Given the description of an element on the screen output the (x, y) to click on. 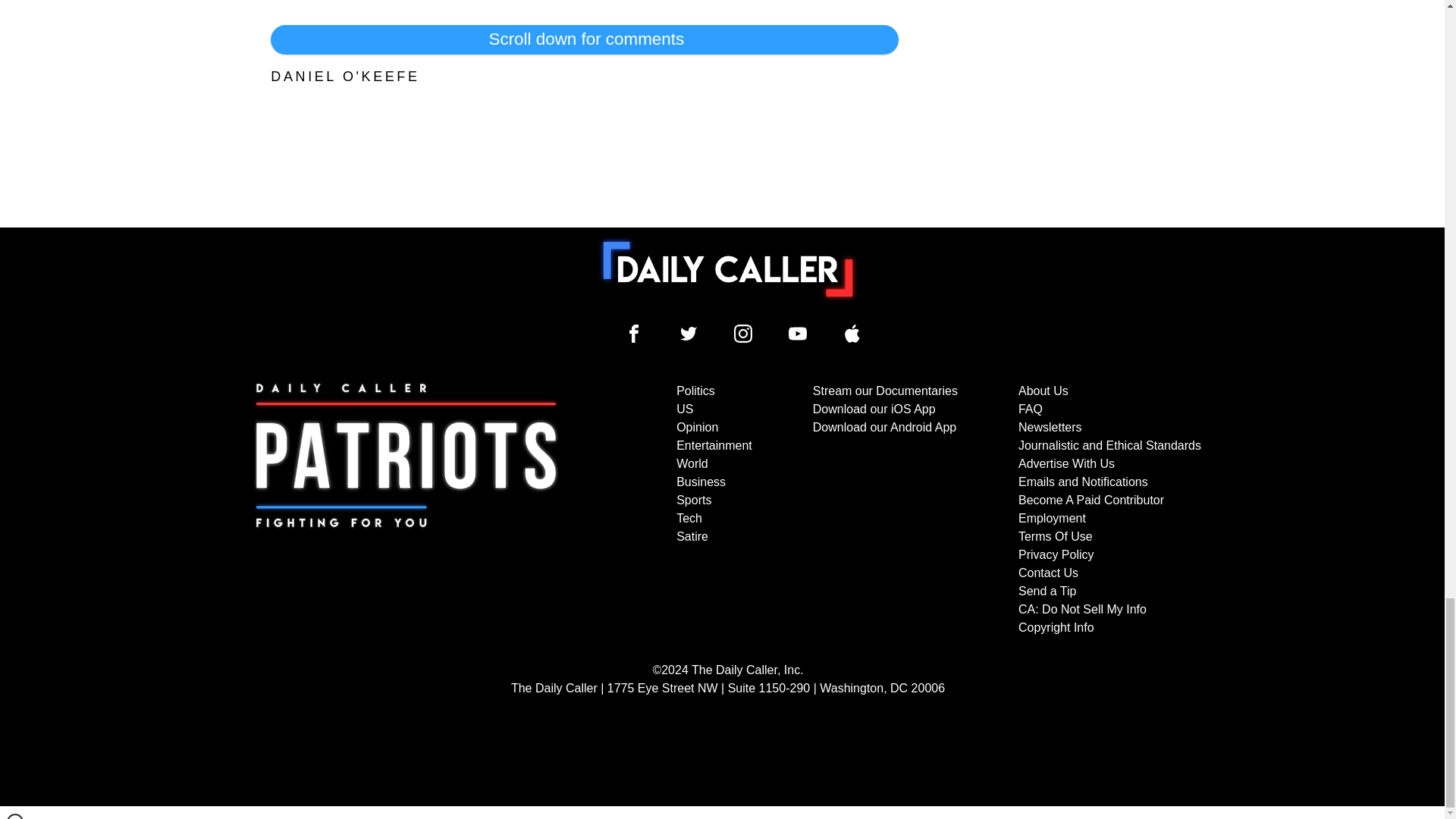
Scroll down for comments (584, 39)
Daily Caller YouTube (852, 333)
Daily Caller Facebook (633, 333)
Daily Caller Twitter (688, 333)
Daily Caller Instagram (742, 333)
To home page (727, 268)
Subscribe to The Daily Caller (405, 509)
Daily Caller YouTube (797, 333)
